Given the description of an element on the screen output the (x, y) to click on. 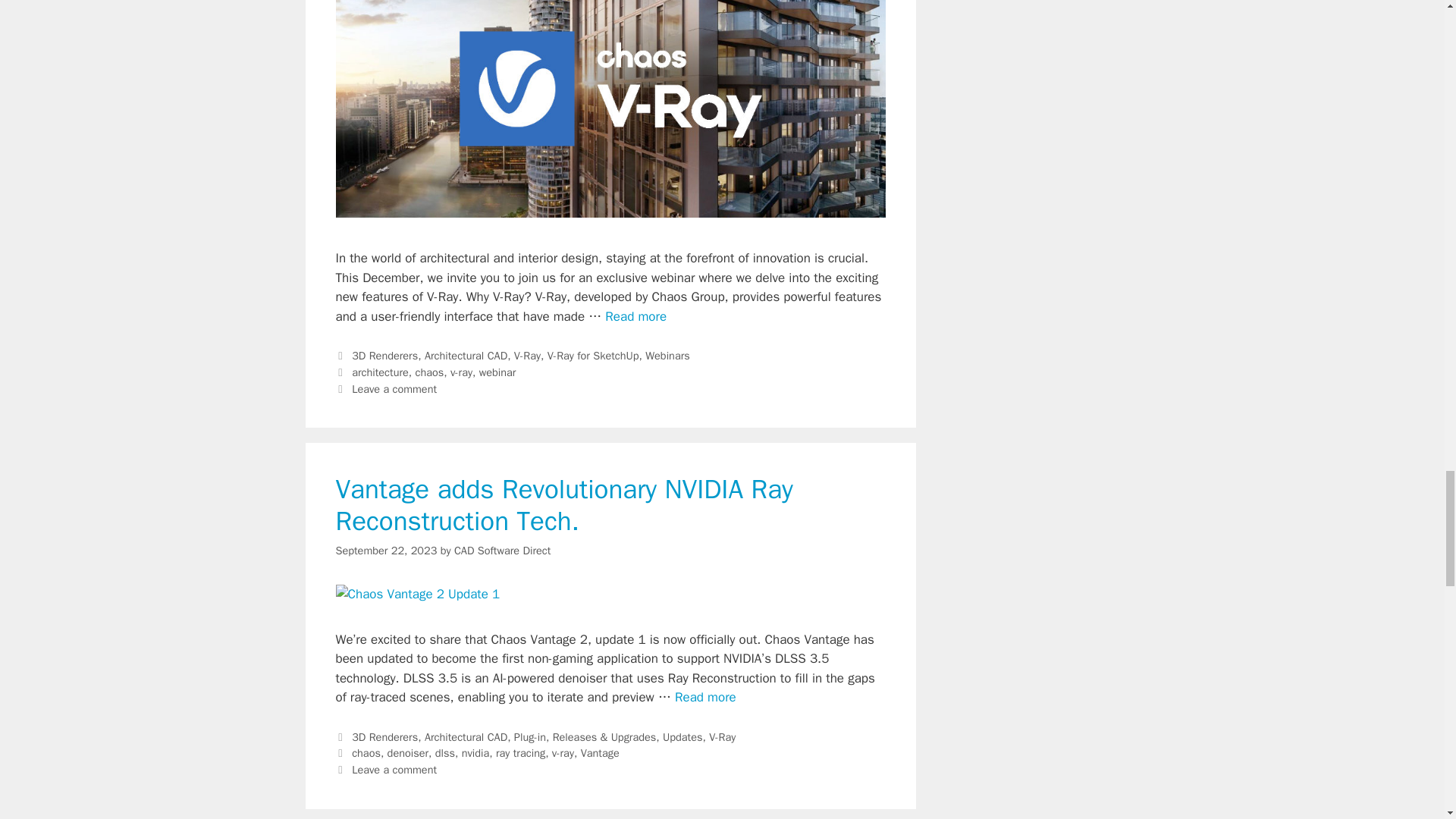
View all posts by CAD Software Direct (502, 549)
